Given the description of an element on the screen output the (x, y) to click on. 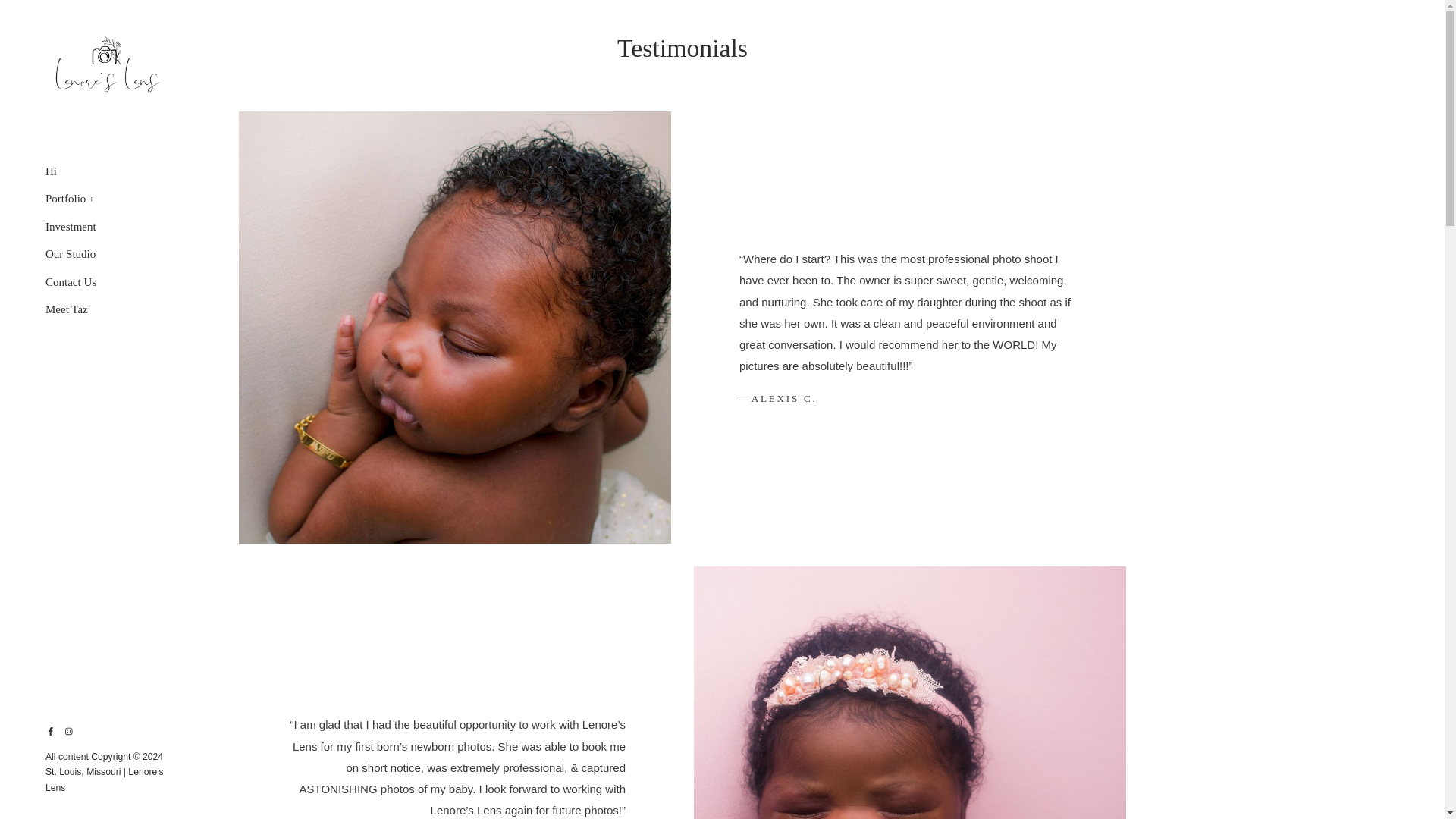
Investment (70, 226)
Our Studio (70, 253)
Portfolio (65, 198)
Contact Us (70, 281)
Meet Taz (66, 305)
